Given the description of an element on the screen output the (x, y) to click on. 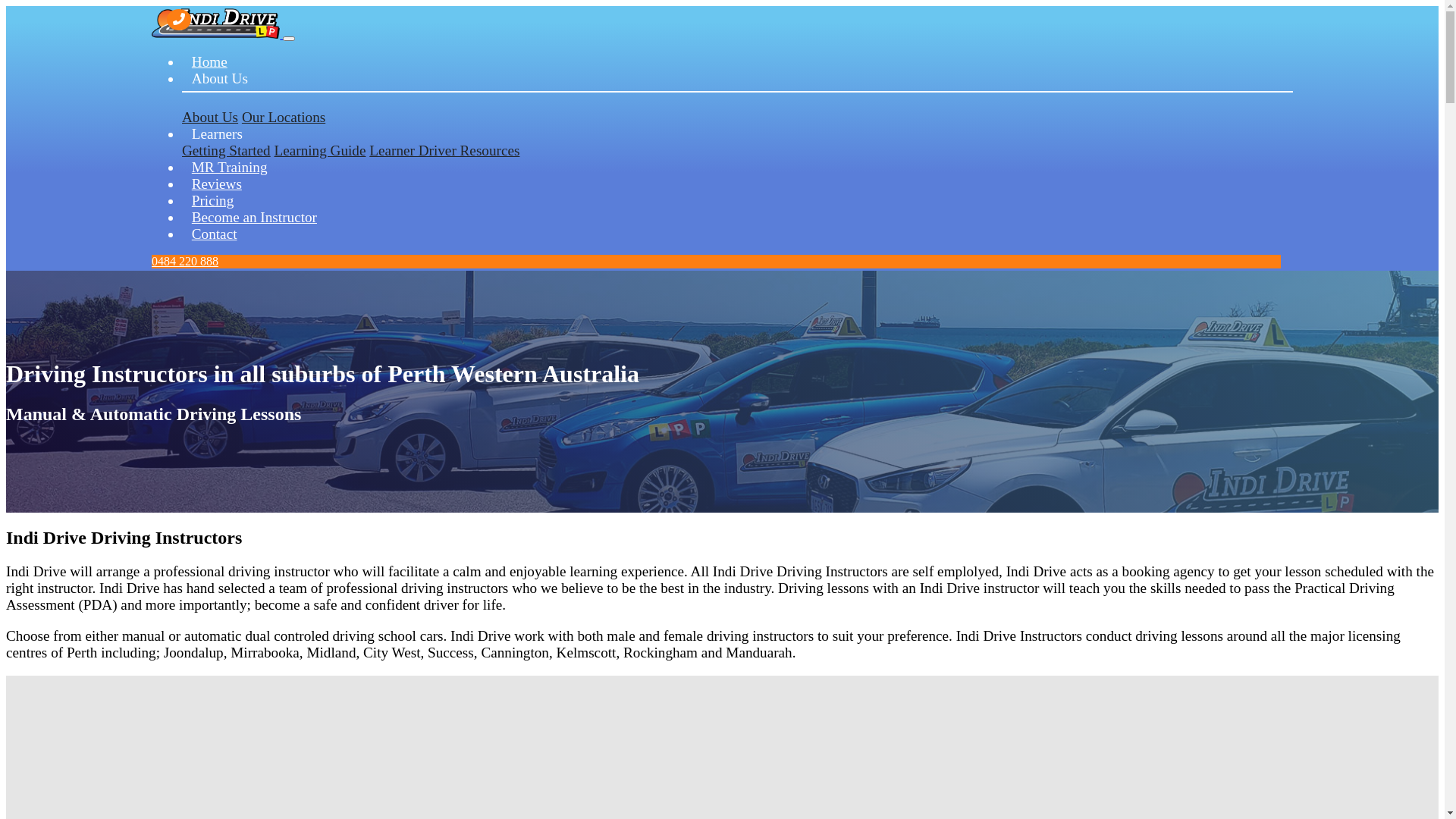
Learners Element type: text (217, 133)
Reviews Element type: text (216, 183)
Pricing Element type: text (212, 200)
0484 220 888 Element type: text (184, 260)
Learning Guide Element type: text (320, 150)
Become an Instructor Element type: text (254, 217)
Home Element type: text (209, 61)
About Us Element type: text (737, 89)
Contact Element type: text (214, 233)
Learner Driver Resources Element type: text (444, 150)
About Us Element type: text (210, 117)
Getting Started Element type: text (226, 150)
MR Training Element type: text (229, 167)
Our Locations Element type: text (283, 117)
